Given the description of an element on the screen output the (x, y) to click on. 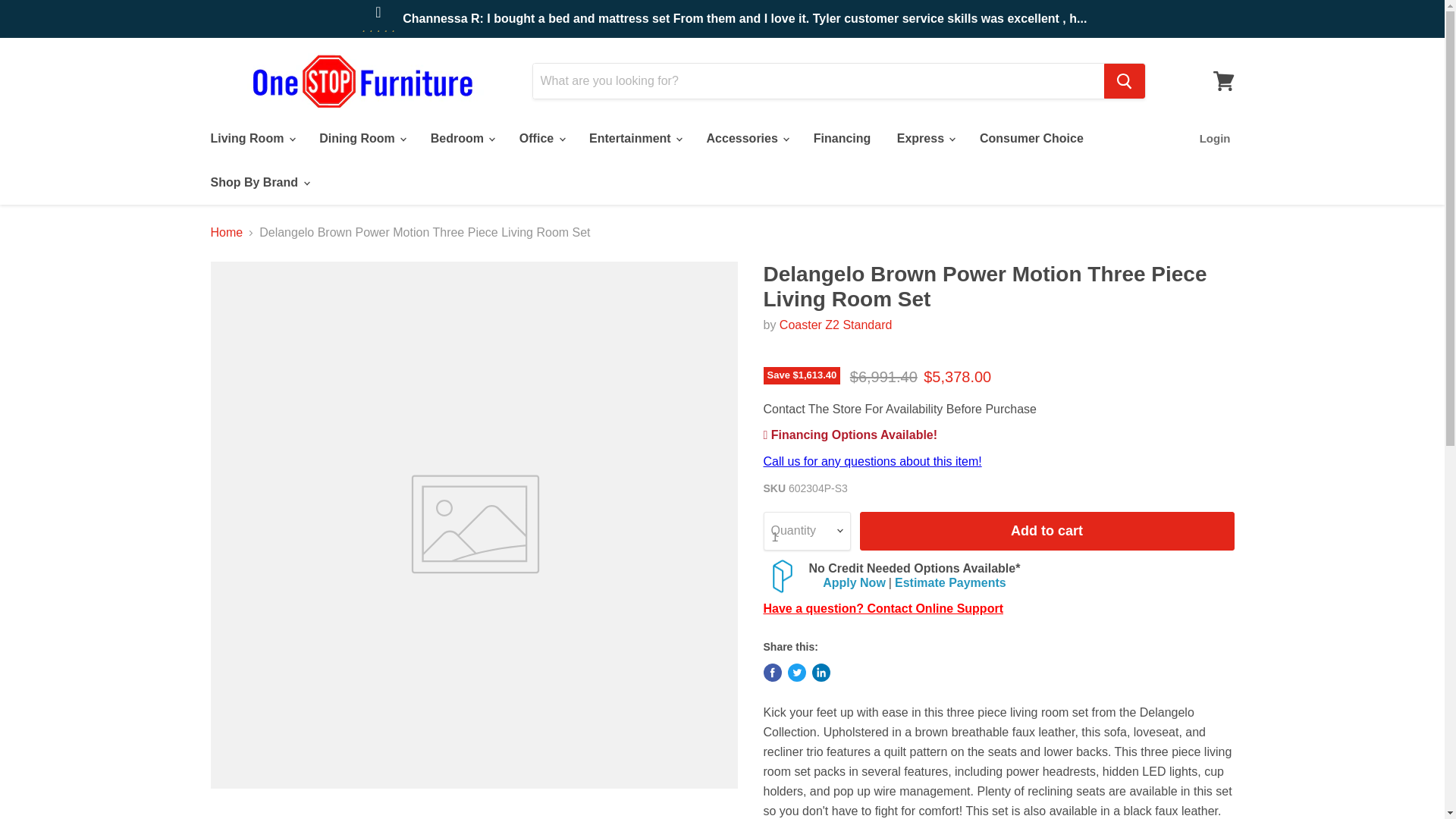
View cart (1223, 80)
Living Room (251, 138)
Coaster Z2 Standard (835, 324)
Dining Room (360, 138)
Bedroom (462, 138)
